Given the description of an element on the screen output the (x, y) to click on. 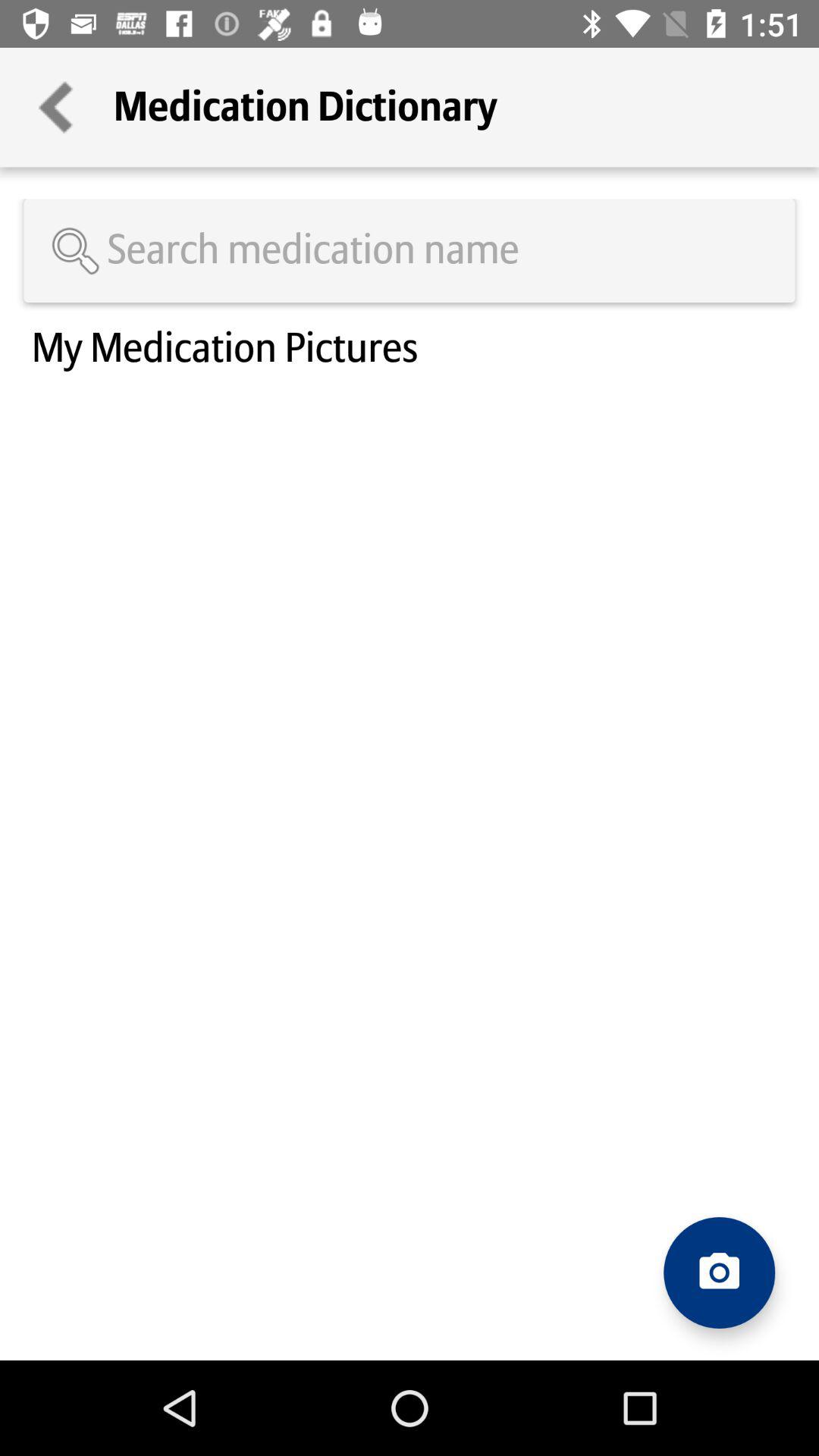
go back (56, 107)
